Given the description of an element on the screen output the (x, y) to click on. 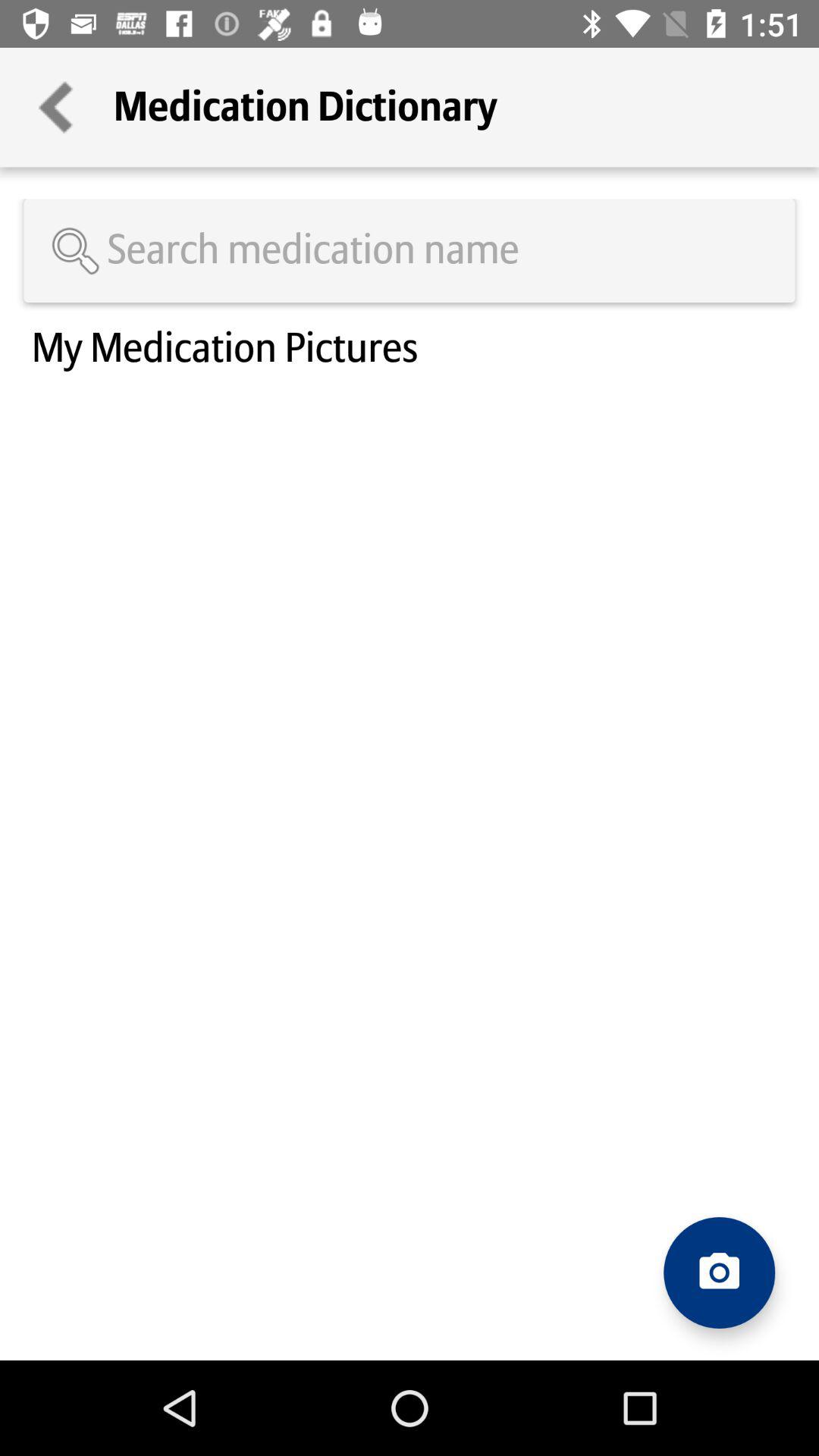
go back (56, 107)
